Given the description of an element on the screen output the (x, y) to click on. 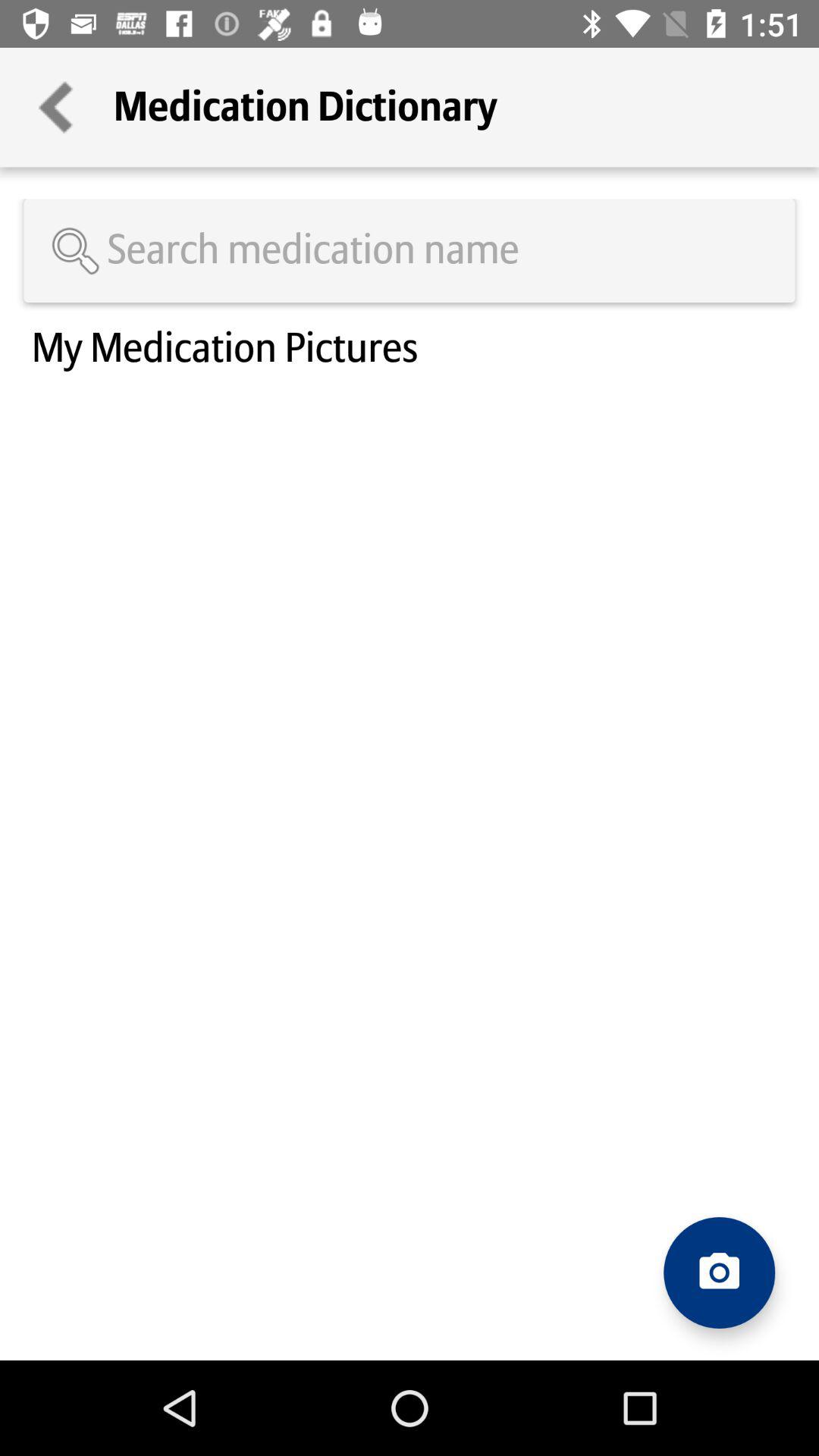
go back (56, 107)
